Given the description of an element on the screen output the (x, y) to click on. 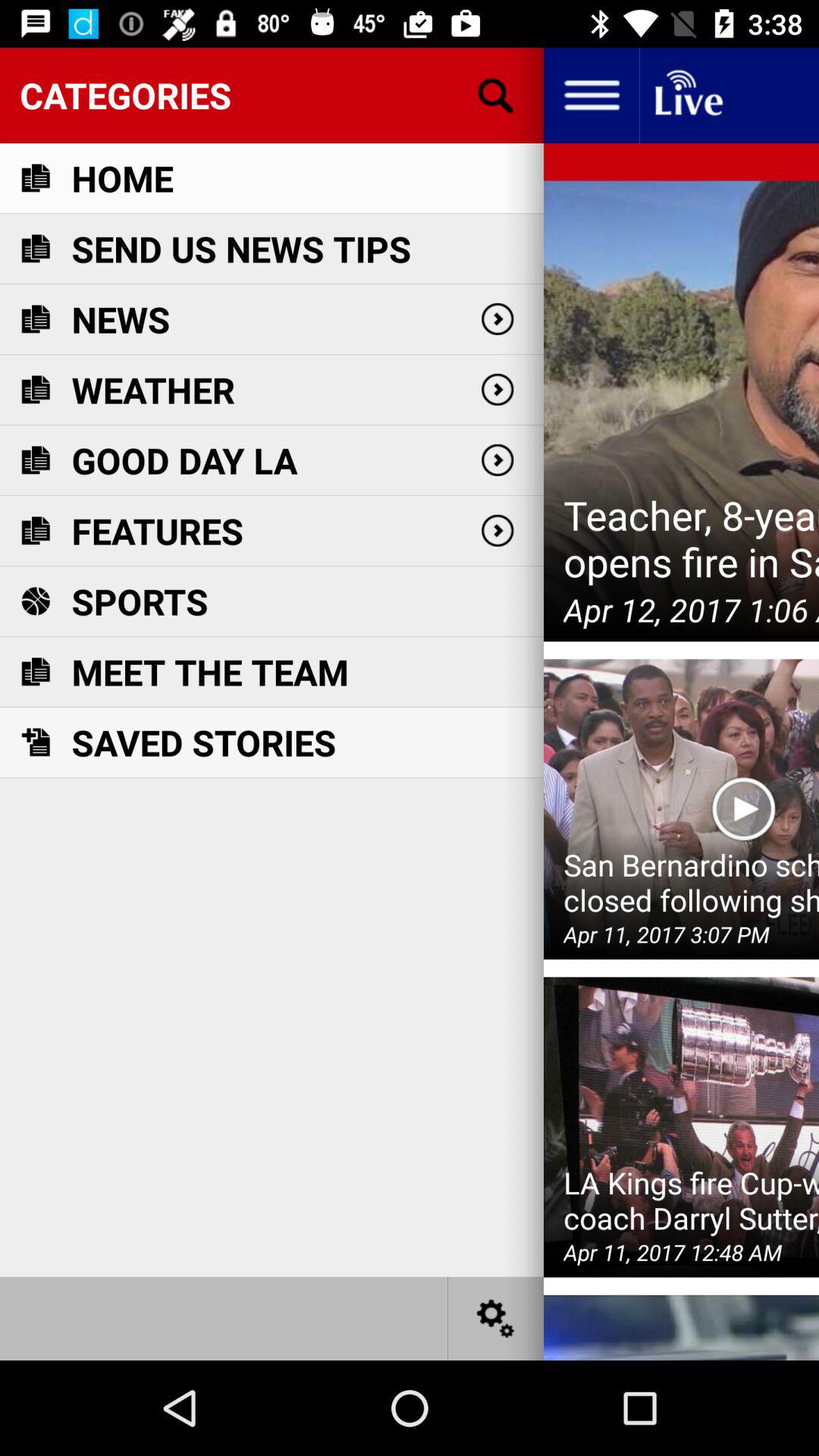
turn off item above the features (184, 460)
